Given the description of an element on the screen output the (x, y) to click on. 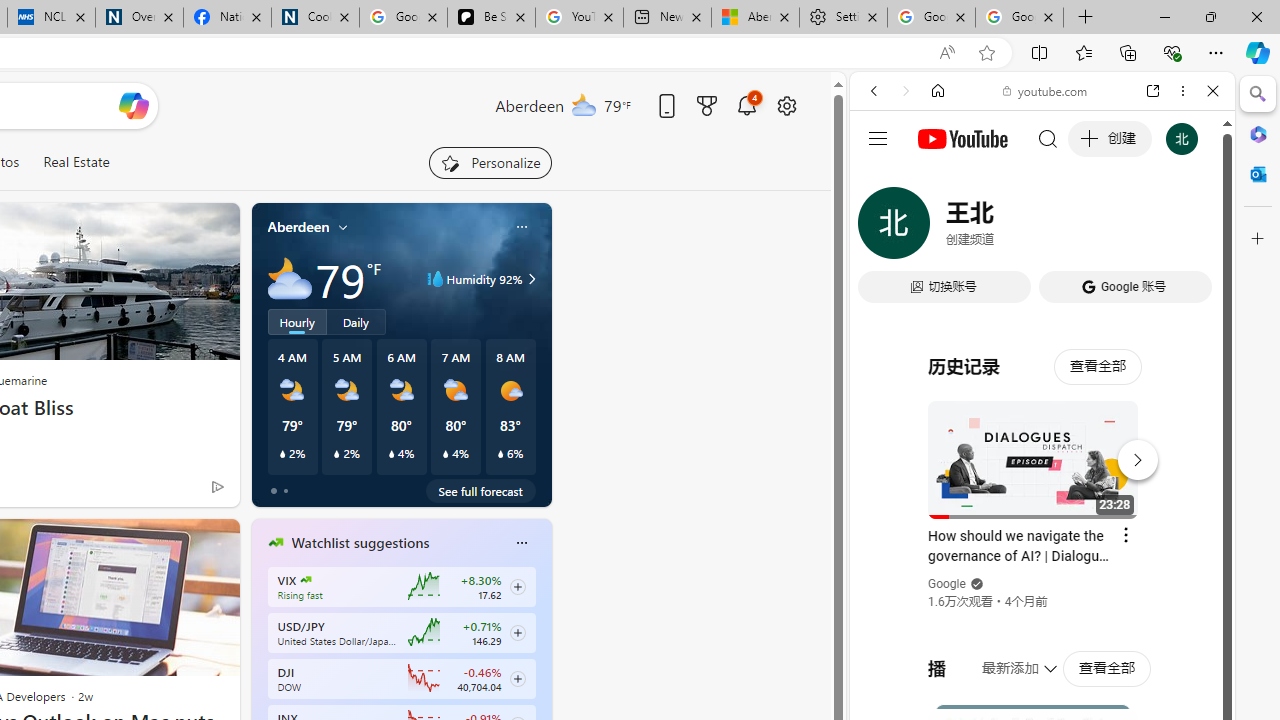
Search videos from youtube.com (1005, 657)
Humidity 92% (529, 278)
CBOE Market Volatility Index (306, 579)
